Given the description of an element on the screen output the (x, y) to click on. 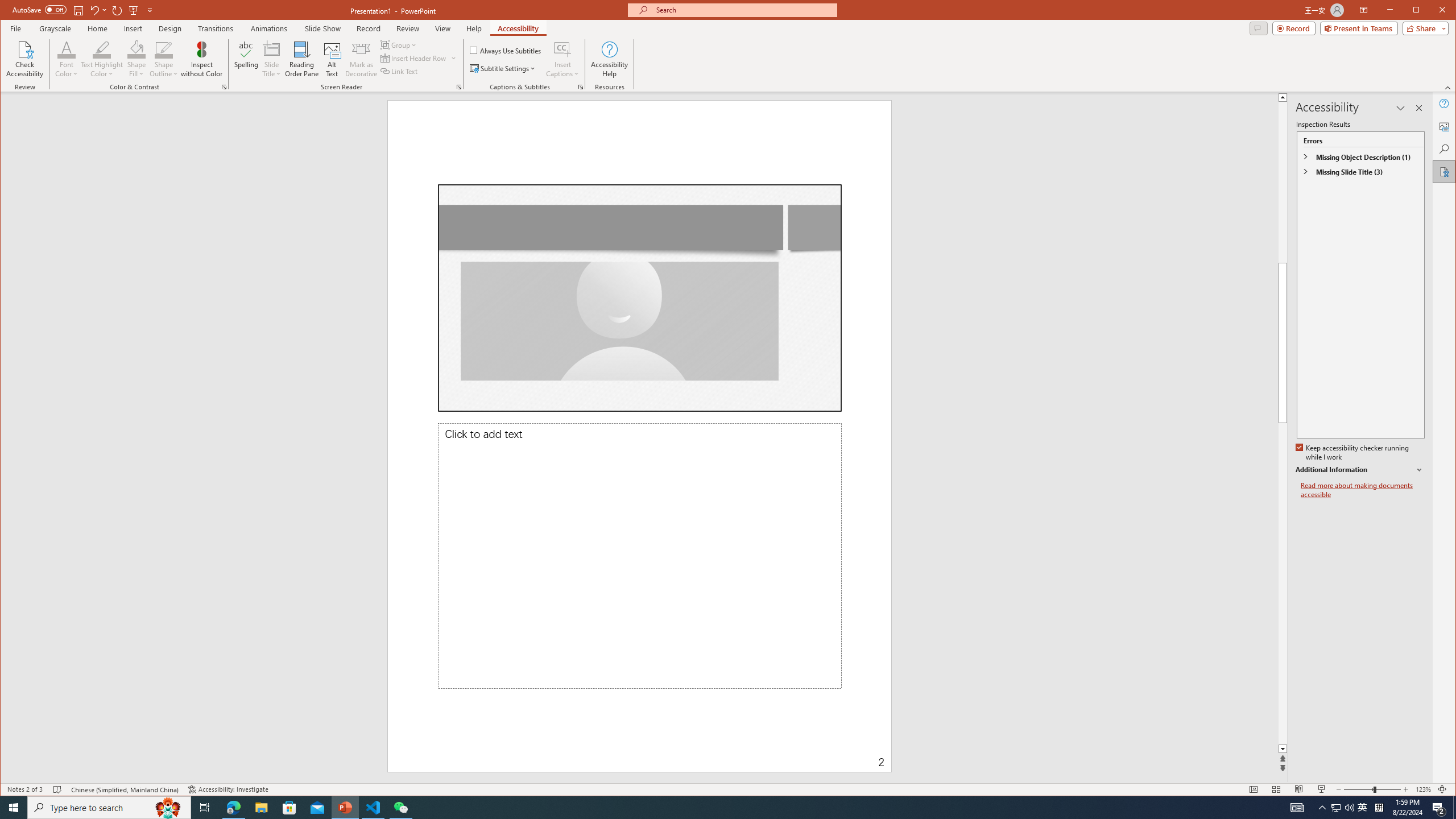
Link Text (399, 70)
